Given the description of an element on the screen output the (x, y) to click on. 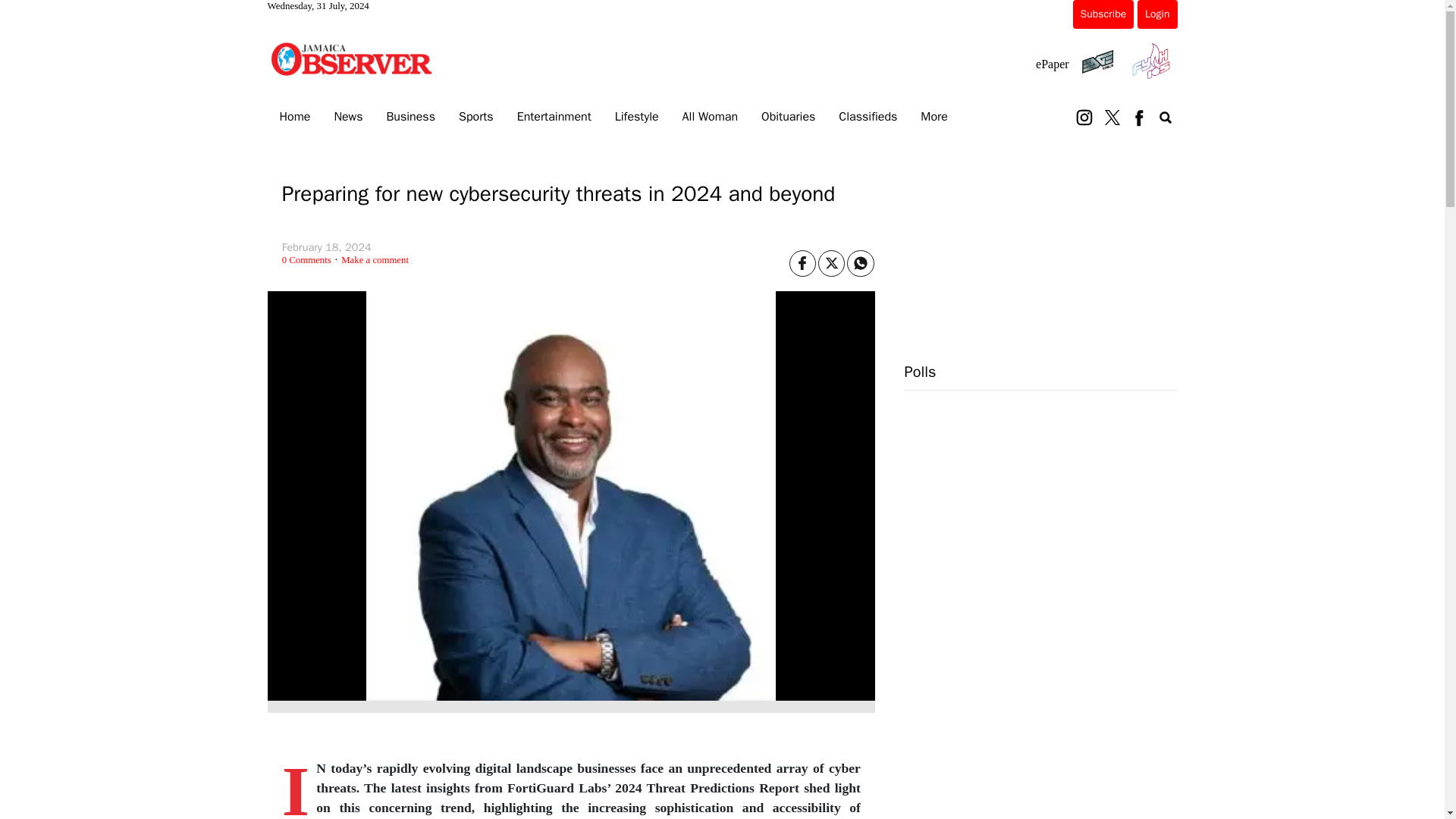
ePaper (1051, 64)
Subscribe (1103, 14)
Login (1156, 14)
